Given the description of an element on the screen output the (x, y) to click on. 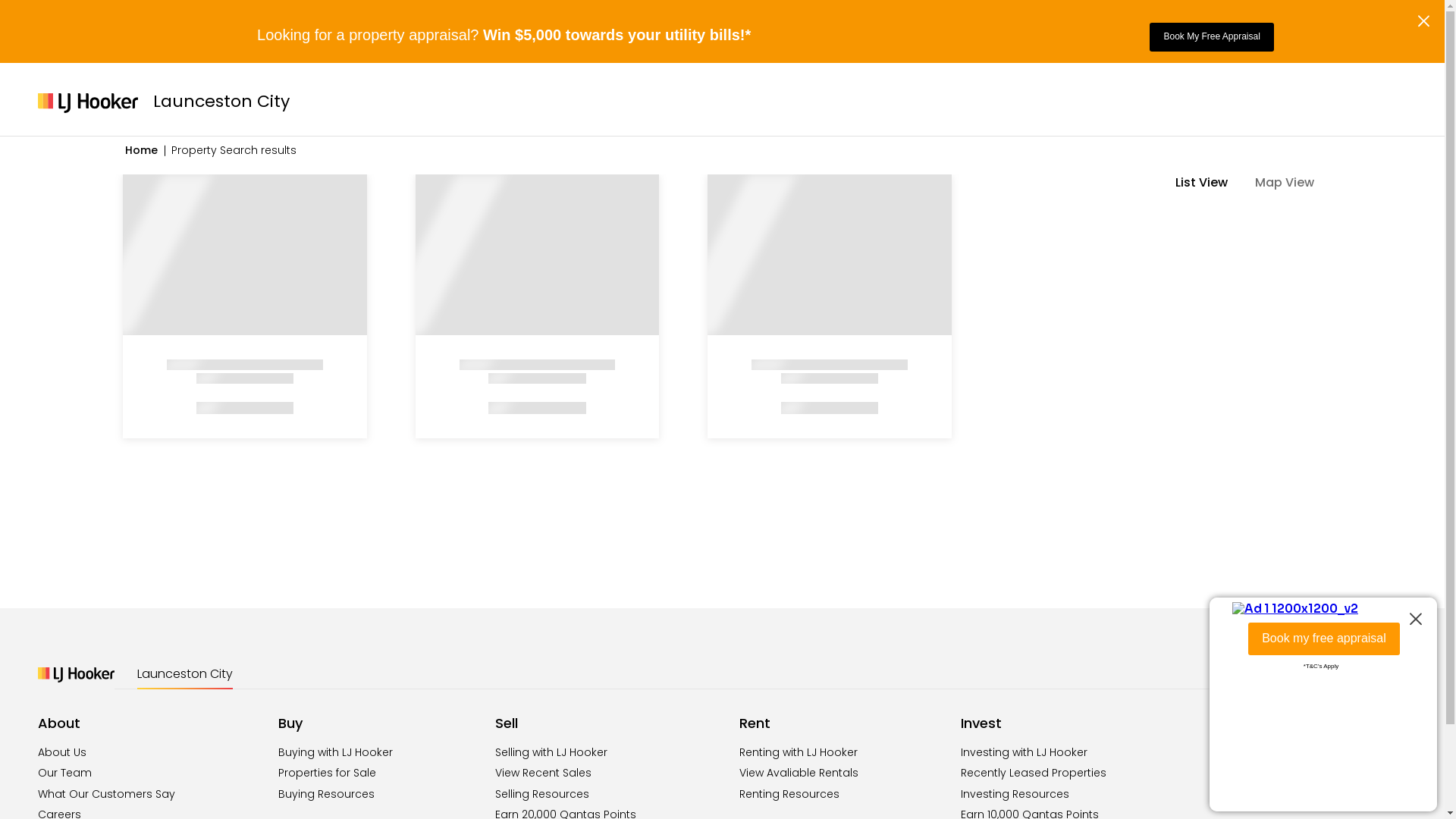
Investing with LJ Hooker Element type: text (1023, 751)
Launceston City Element type: text (184, 673)
Properties for Sale Element type: text (327, 772)
Renting with LJ Hooker Element type: text (798, 751)
launceston.ljhooker.com.au Element type: text (1284, 795)
(03) 6388 9266 Element type: text (1286, 766)
Selling Resources Element type: text (542, 793)
View Recent Sales Element type: text (543, 772)
View Avaliable Rentals Element type: text (798, 772)
Buying Resources Element type: text (326, 793)
List View Element type: text (1208, 182)
launceston@ljhooker.com.au Element type: text (1288, 781)
Map View Element type: text (1292, 182)
About Us Element type: text (61, 751)
Renting Resources Element type: text (789, 793)
Our Team Element type: text (64, 772)
Recently Leased Properties Element type: text (1033, 772)
Selling with LJ Hooker Element type: text (551, 751)
Home Element type: text (141, 149)
What Our Customers Say Element type: text (106, 793)
Buying with LJ Hooker Element type: text (335, 751)
Investing Resources Element type: text (1014, 793)
